Given the description of an element on the screen output the (x, y) to click on. 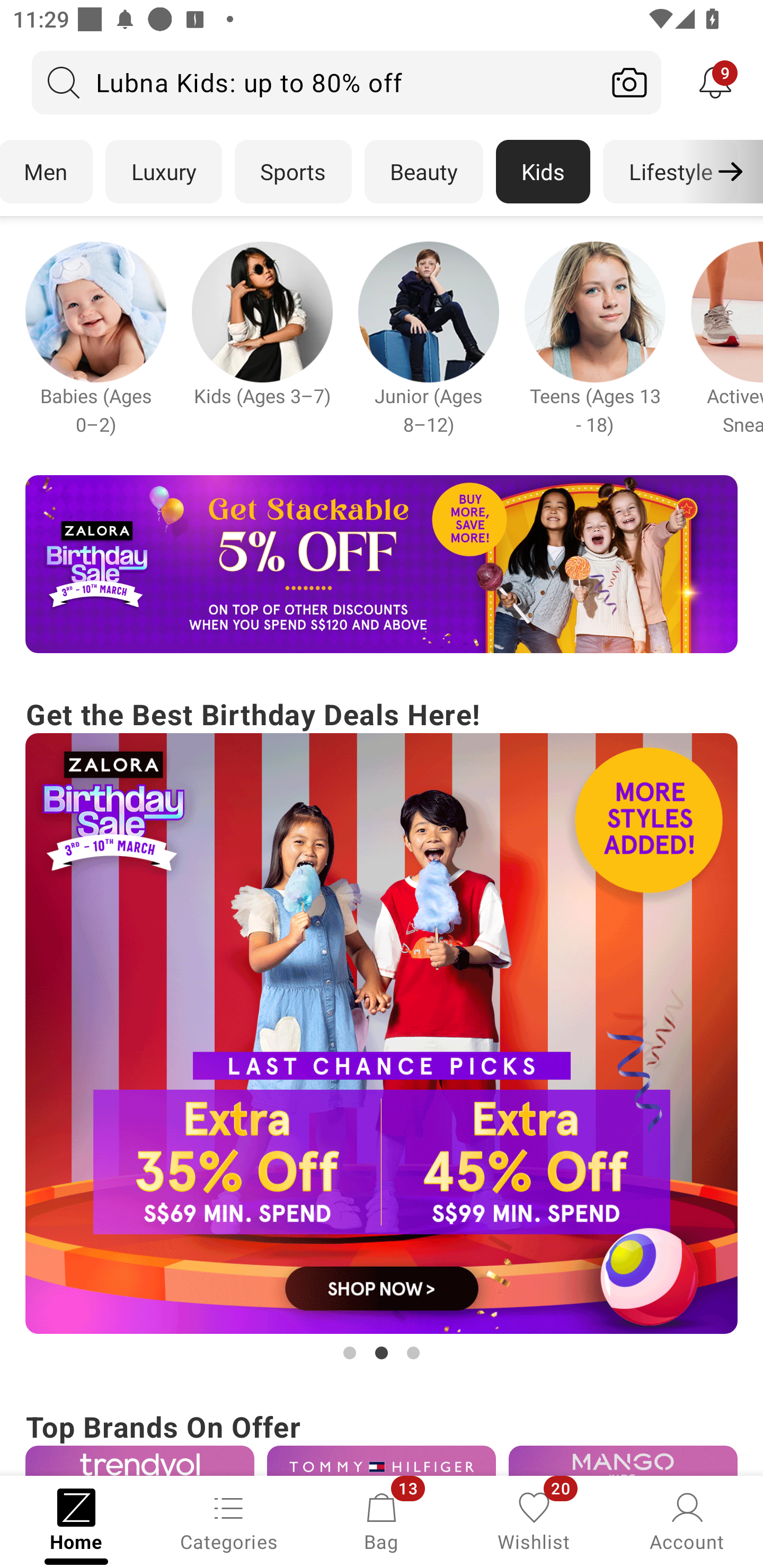
Lubna Kids: up to 80% off (314, 82)
Men (46, 171)
Luxury (163, 171)
Sports (293, 171)
Beauty (423, 171)
Kids (542, 171)
Lifestyle (669, 171)
Campaign banner (95, 311)
Campaign banner (261, 311)
Campaign banner (428, 311)
Campaign banner (594, 311)
Campaign banner (381, 564)
Get the Best Birthday Deals Here! Campaign banner (381, 1028)
Campaign banner (381, 1033)
Campaign banner (139, 1460)
Campaign banner (381, 1460)
Campaign banner (622, 1460)
Categories (228, 1519)
Bag, 13 new notifications Bag (381, 1519)
Wishlist, 20 new notifications Wishlist (533, 1519)
Account (686, 1519)
